Given the description of an element on the screen output the (x, y) to click on. 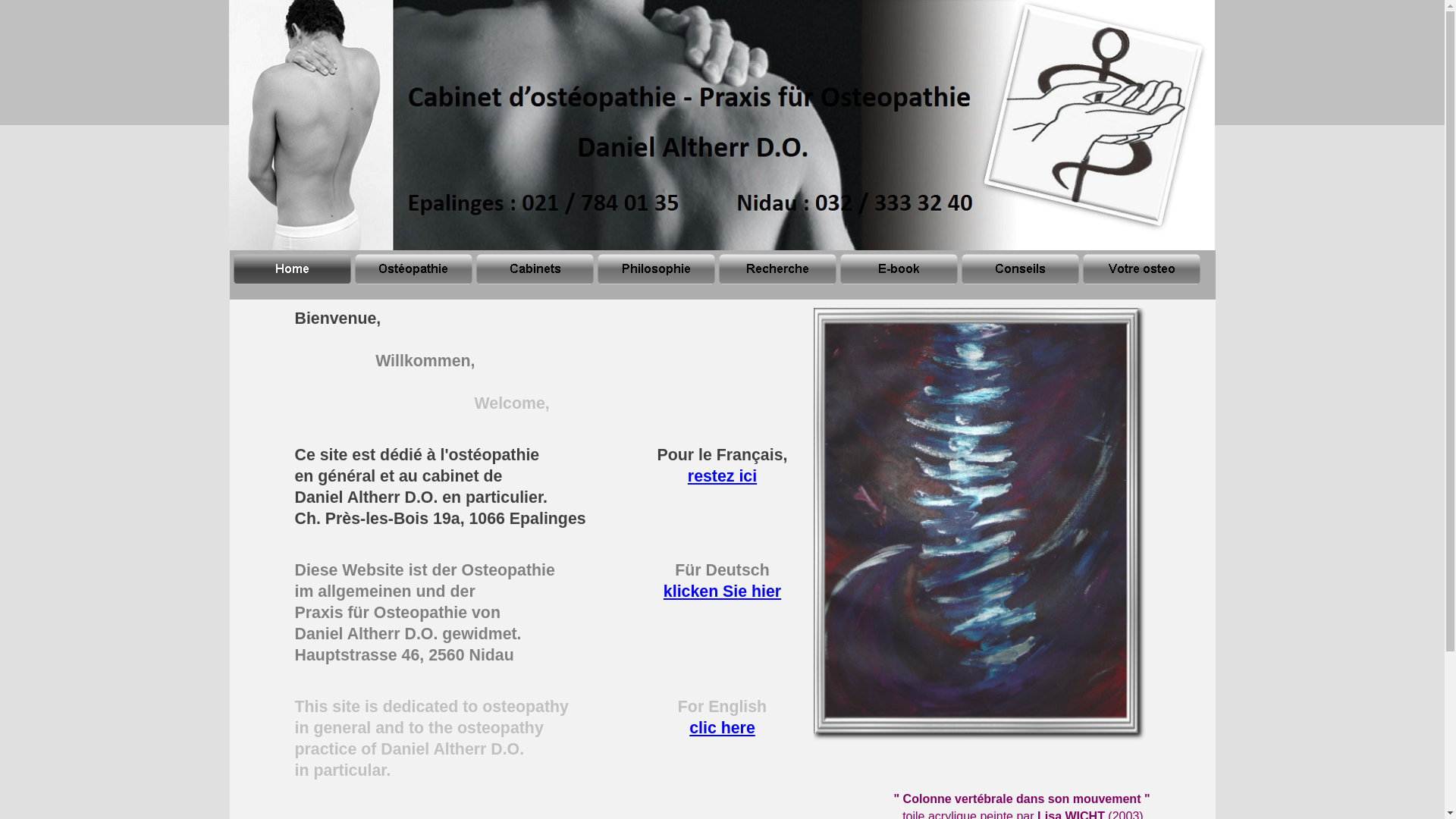
klicken Sie hier Element type: text (722, 591)
restez ici Element type: text (721, 476)
clic here Element type: text (722, 727)
